Given the description of an element on the screen output the (x, y) to click on. 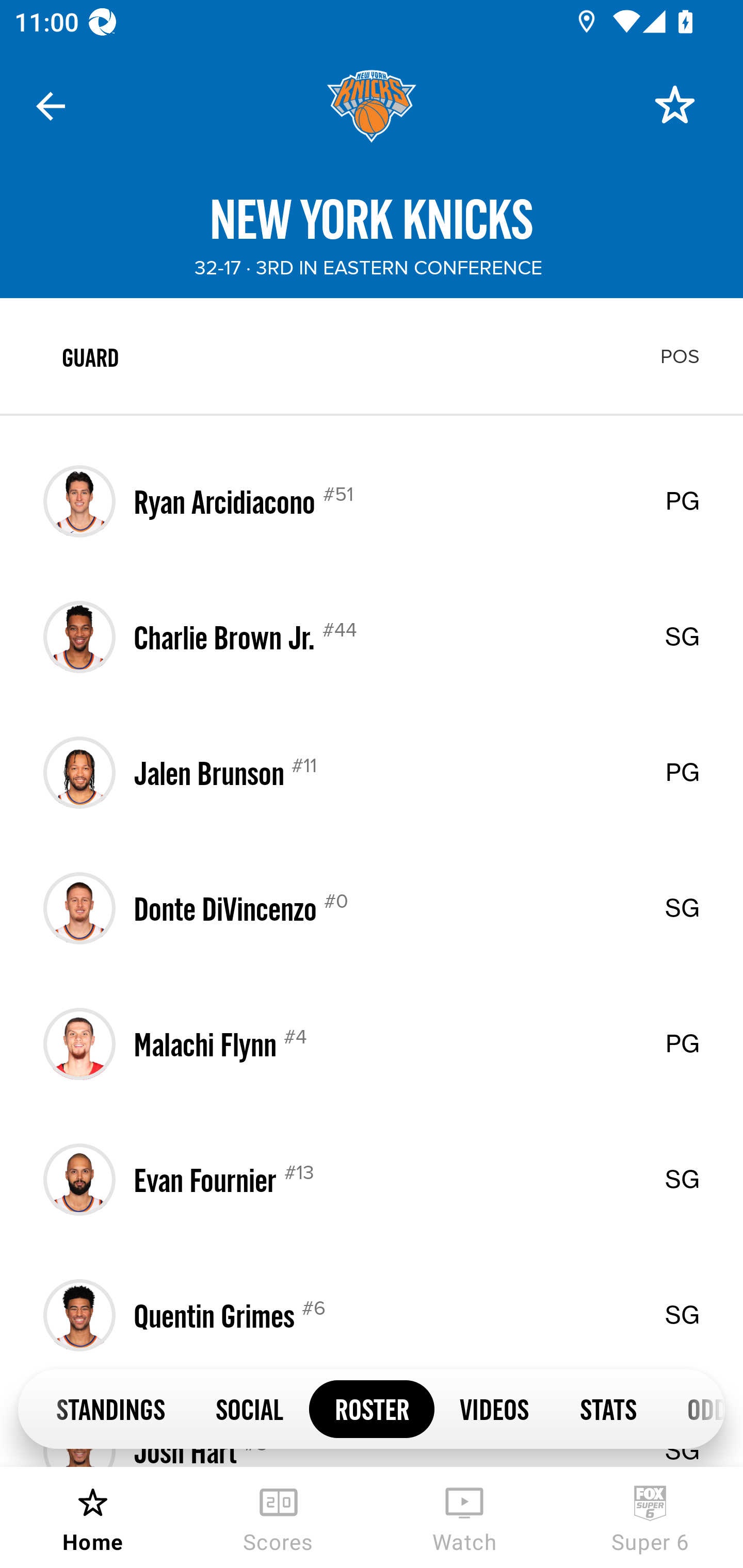
Navigate up (50, 106)
32-17 · 3RD IN EASTERN CONFERENCE (368, 267)
GUARD POS (371, 356)
Ryan Arcidiacono #51 PG (371, 501)
Charlie Brown Jr. #44 SG (371, 636)
Jalen Brunson #11 PG (371, 772)
Donte DiVincenzo #0 SG (371, 907)
Malachi Flynn #4 PG (371, 1044)
Evan Fournier #13 SG (371, 1179)
Quentin Grimes #6 SG (371, 1315)
STANDINGS (110, 1408)
SOCIAL (249, 1408)
VIDEOS (494, 1408)
STATS (607, 1408)
Scores (278, 1517)
Watch (464, 1517)
Super 6 (650, 1517)
